Given the description of an element on the screen output the (x, y) to click on. 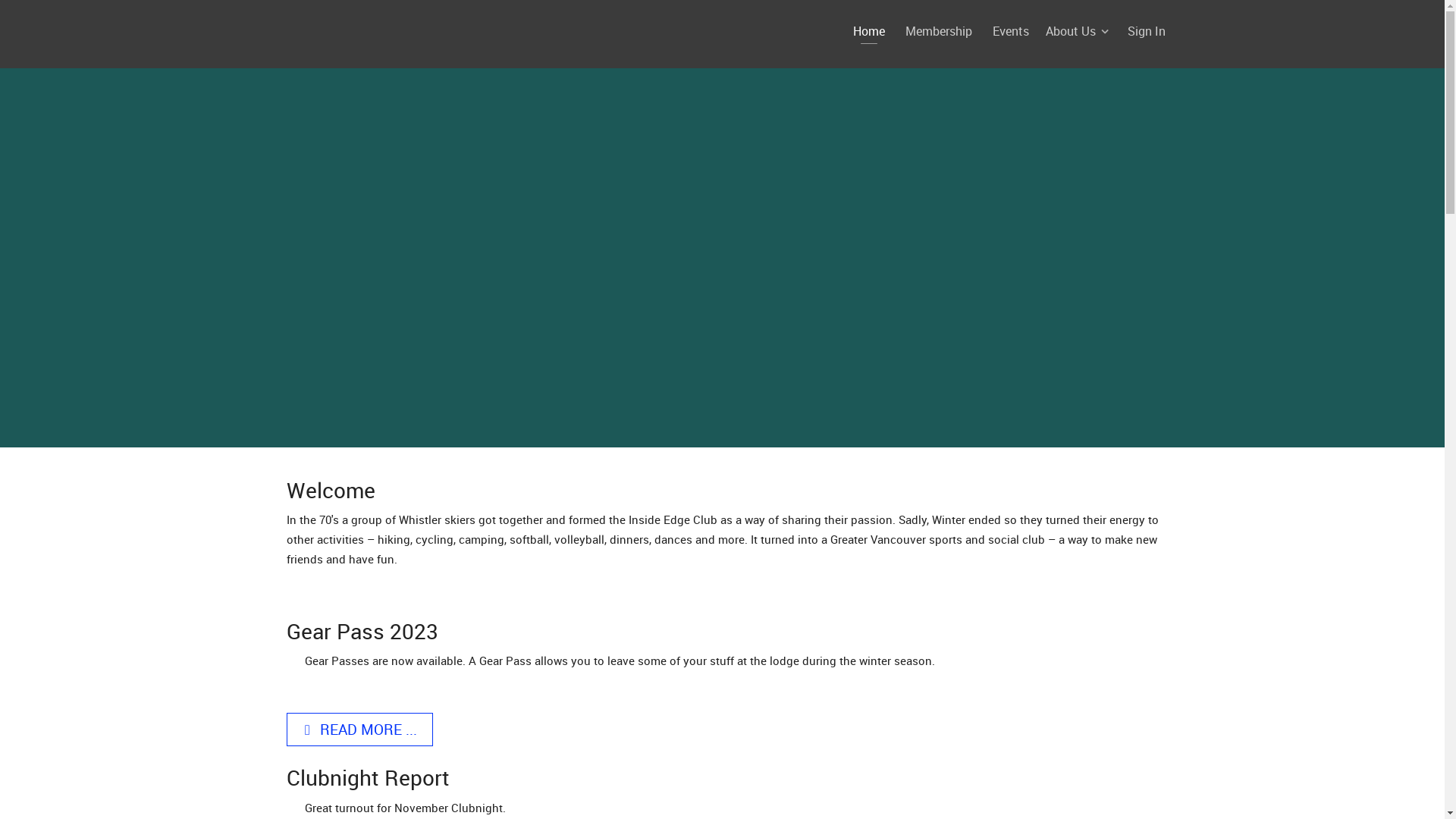
READ MORE ... Element type: text (359, 729)
Membership Element type: text (938, 30)
Sign In Element type: text (1145, 30)
Events Element type: text (1009, 30)
Home Element type: text (867, 30)
